Given the description of an element on the screen output the (x, y) to click on. 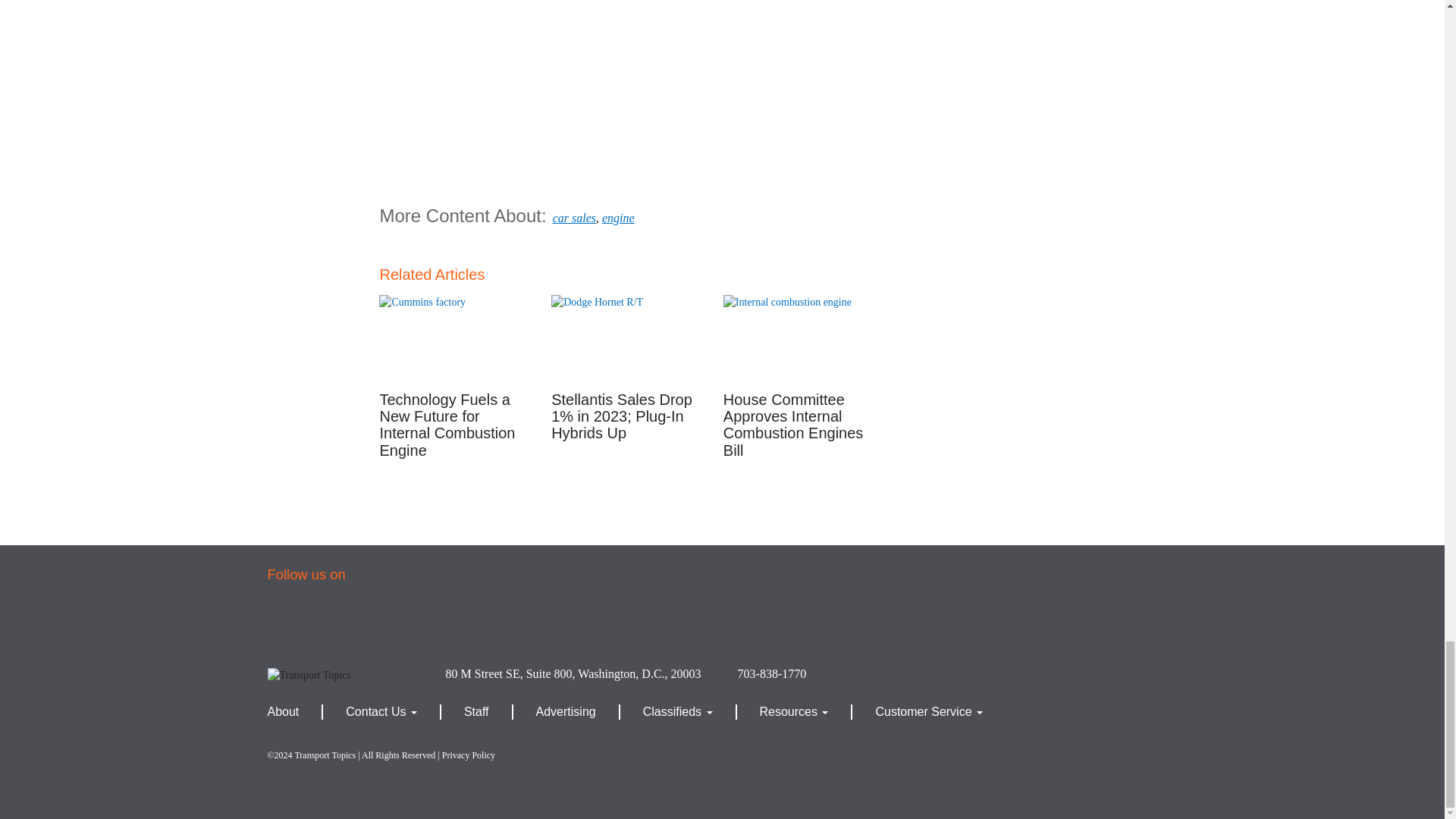
Follow us on Twitter (350, 622)
Follow us on LinkedIn (462, 622)
Follow us on Facebook (295, 622)
Follow us on YouTube (407, 622)
